Given the description of an element on the screen output the (x, y) to click on. 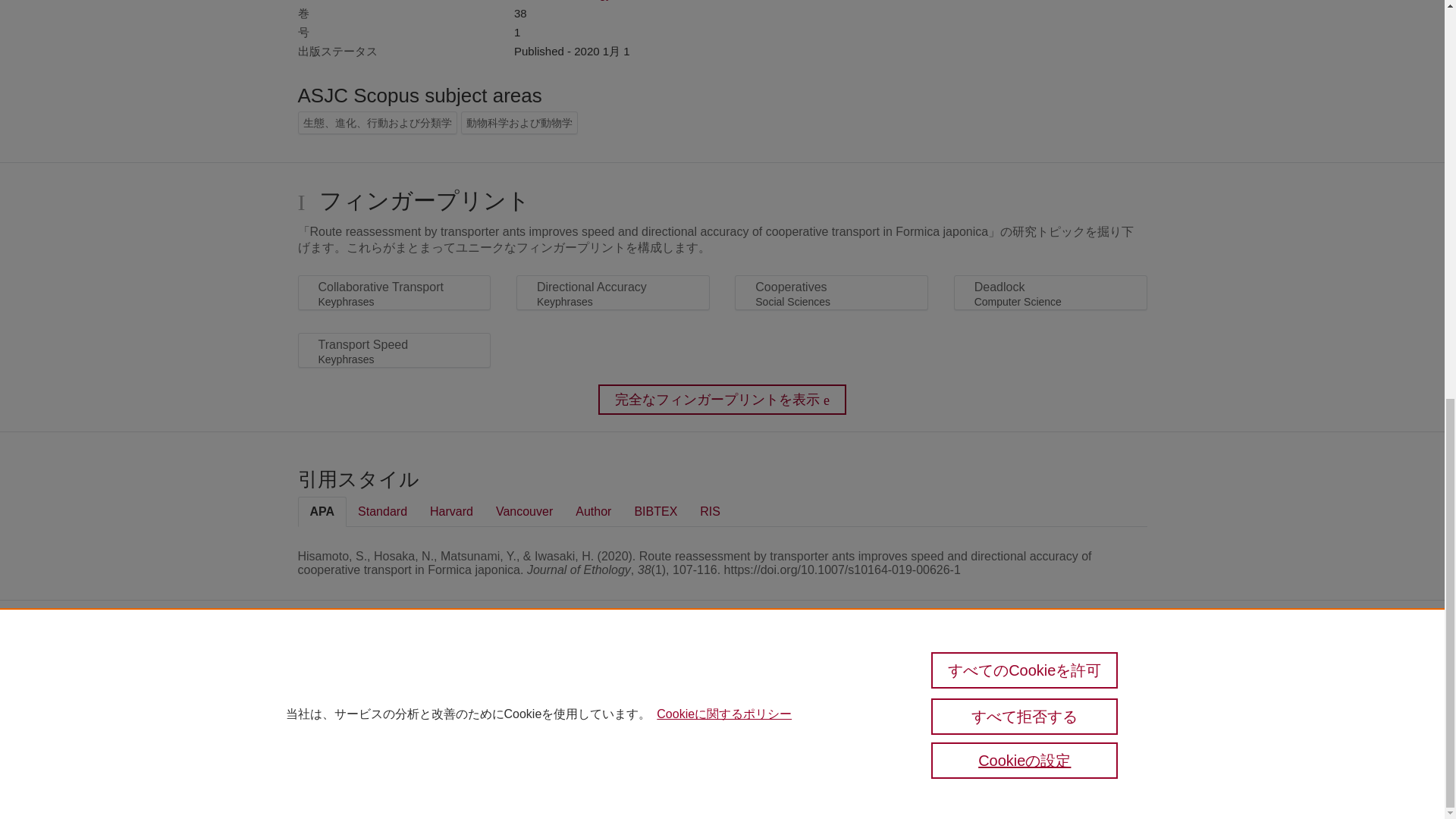
Pure (330, 676)
Elsevier B.V. (545, 699)
Scopus (362, 676)
